Given the description of an element on the screen output the (x, y) to click on. 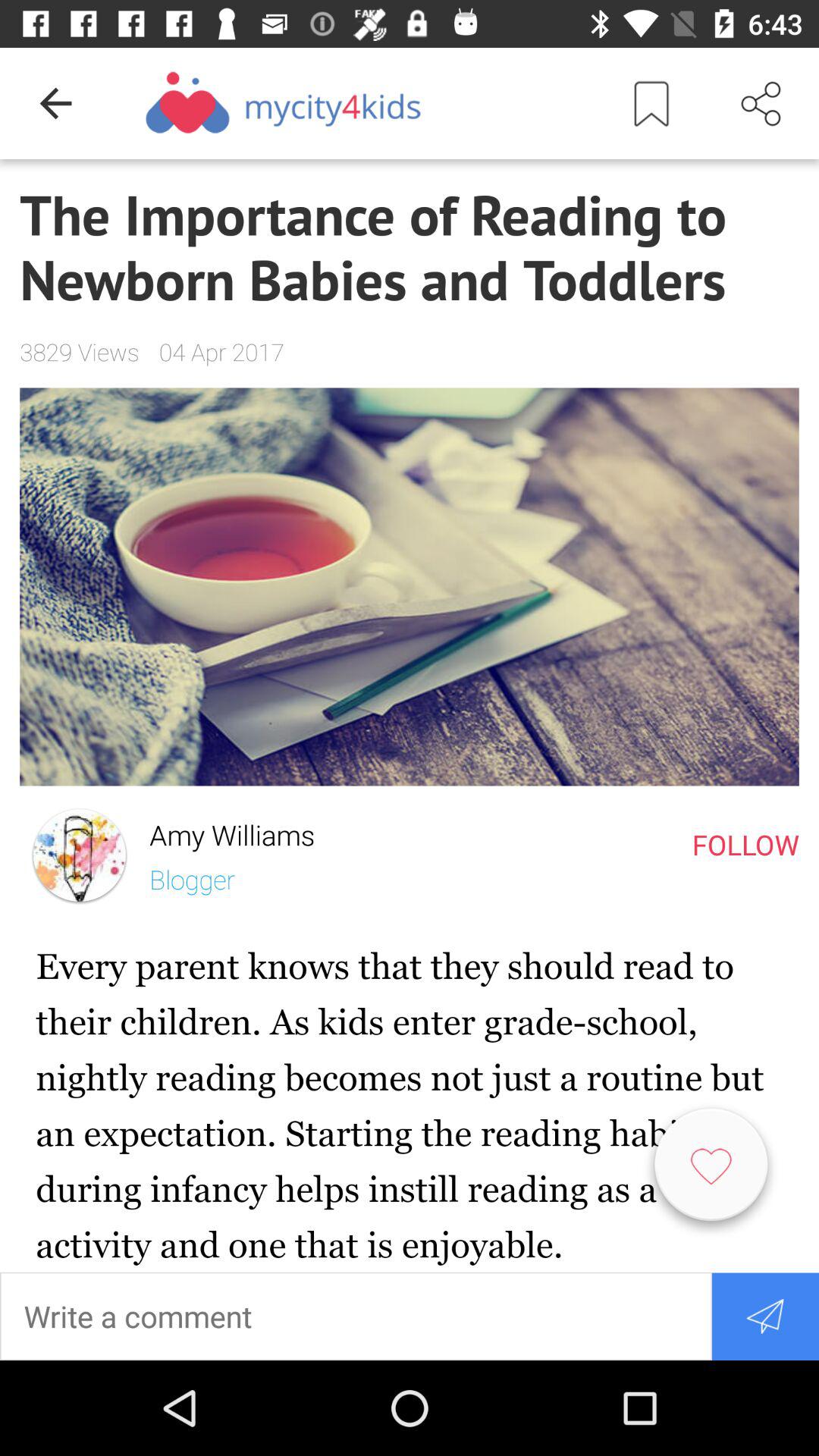
select item above the importance of (55, 103)
